Given the description of an element on the screen output the (x, y) to click on. 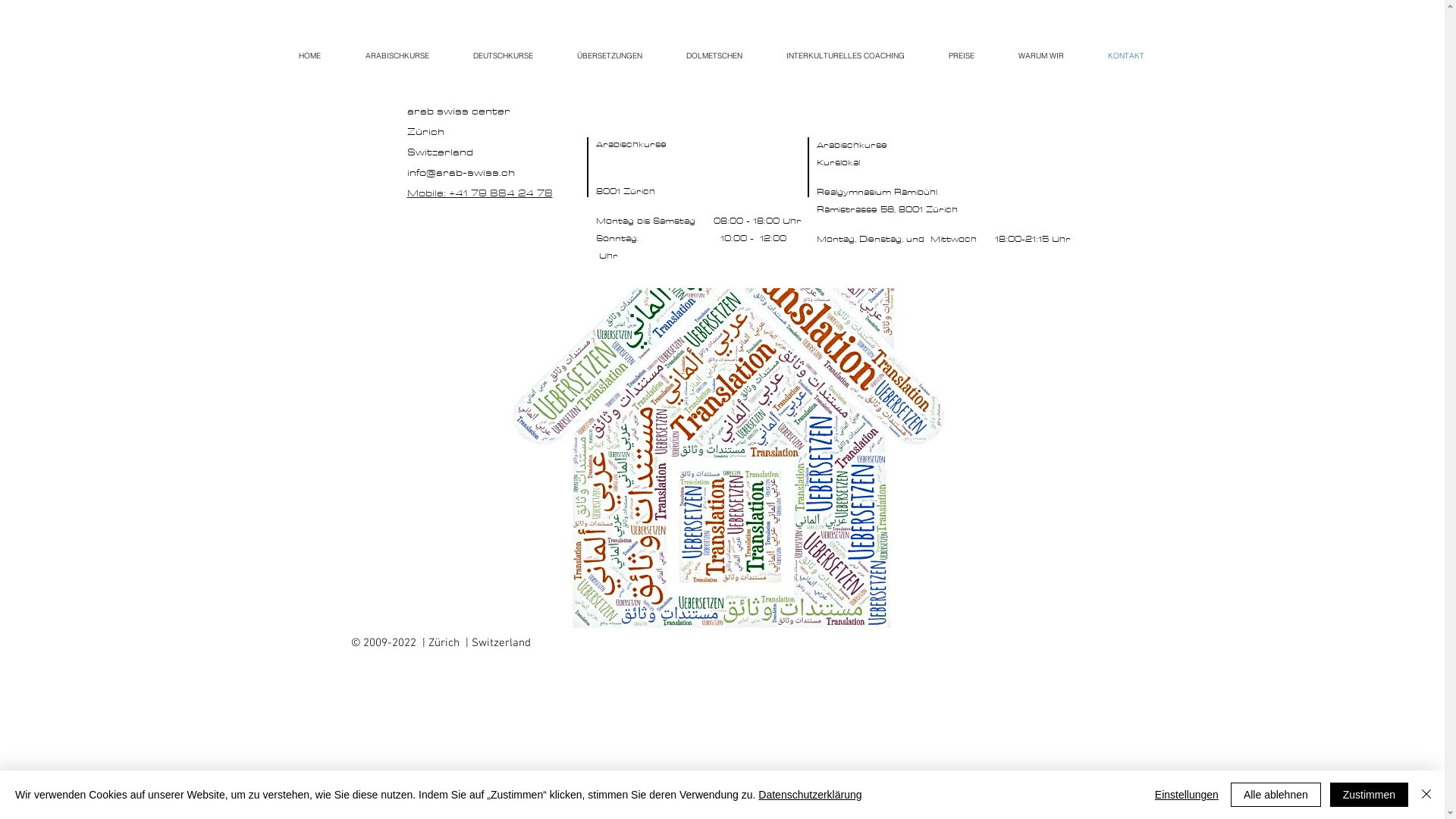
PREISE Element type: text (961, 48)
INTERKULTURELLES COACHING Element type: text (845, 48)
Alle ablehnen Element type: text (1275, 794)
KONTAKT Element type: text (1125, 48)
Mobile: +41 79 884 24 78 Element type: text (479, 193)
DOLMETSCHEN Element type: text (714, 48)
ARABISCHKURSE Element type: text (396, 48)
DEUTSCHKURSE Element type: text (502, 48)
HOME Element type: text (309, 48)
WARUM WIR Element type: text (1040, 48)
Zustimmen Element type: text (1369, 794)
arab swiss center Element type: text (457, 111)
